Given the description of an element on the screen output the (x, y) to click on. 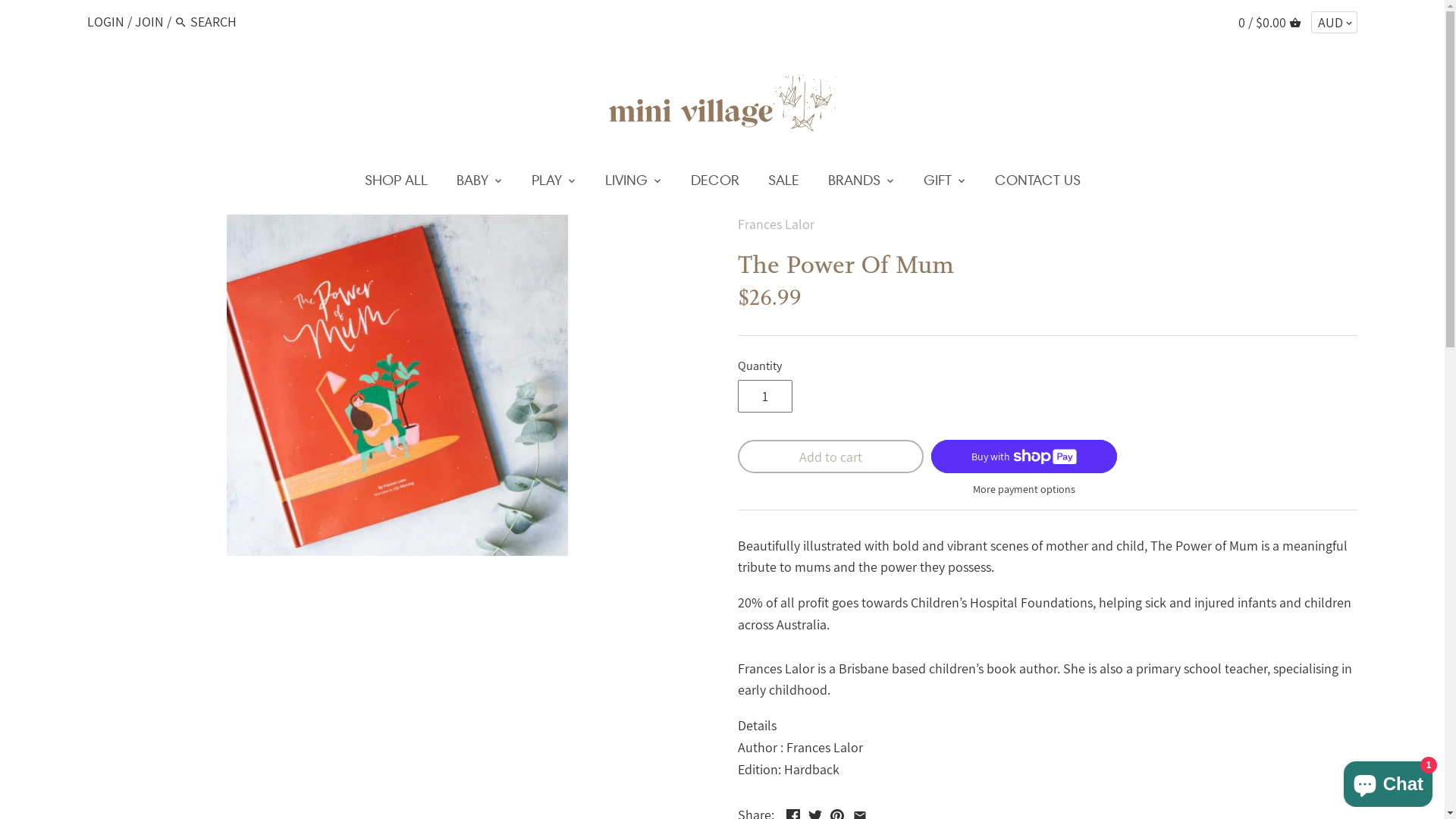
GIFT Element type: text (936, 182)
BRANDS Element type: text (853, 182)
BABY Element type: text (471, 182)
PLAY Element type: text (546, 182)
SHOP ALL Element type: text (396, 182)
JOIN Element type: text (148, 21)
DECOR Element type: text (714, 182)
0 / $0.00 CART Element type: text (1269, 21)
LOGIN Element type: text (105, 21)
LIVING Element type: text (625, 182)
Shopify online store chat Element type: hover (1388, 780)
Frances Lalor Element type: text (775, 223)
Search Element type: text (180, 24)
More payment options Element type: text (1024, 489)
SALE Element type: text (783, 182)
CONTACT US Element type: text (1036, 182)
Add to cart Element type: text (829, 456)
